Given the description of an element on the screen output the (x, y) to click on. 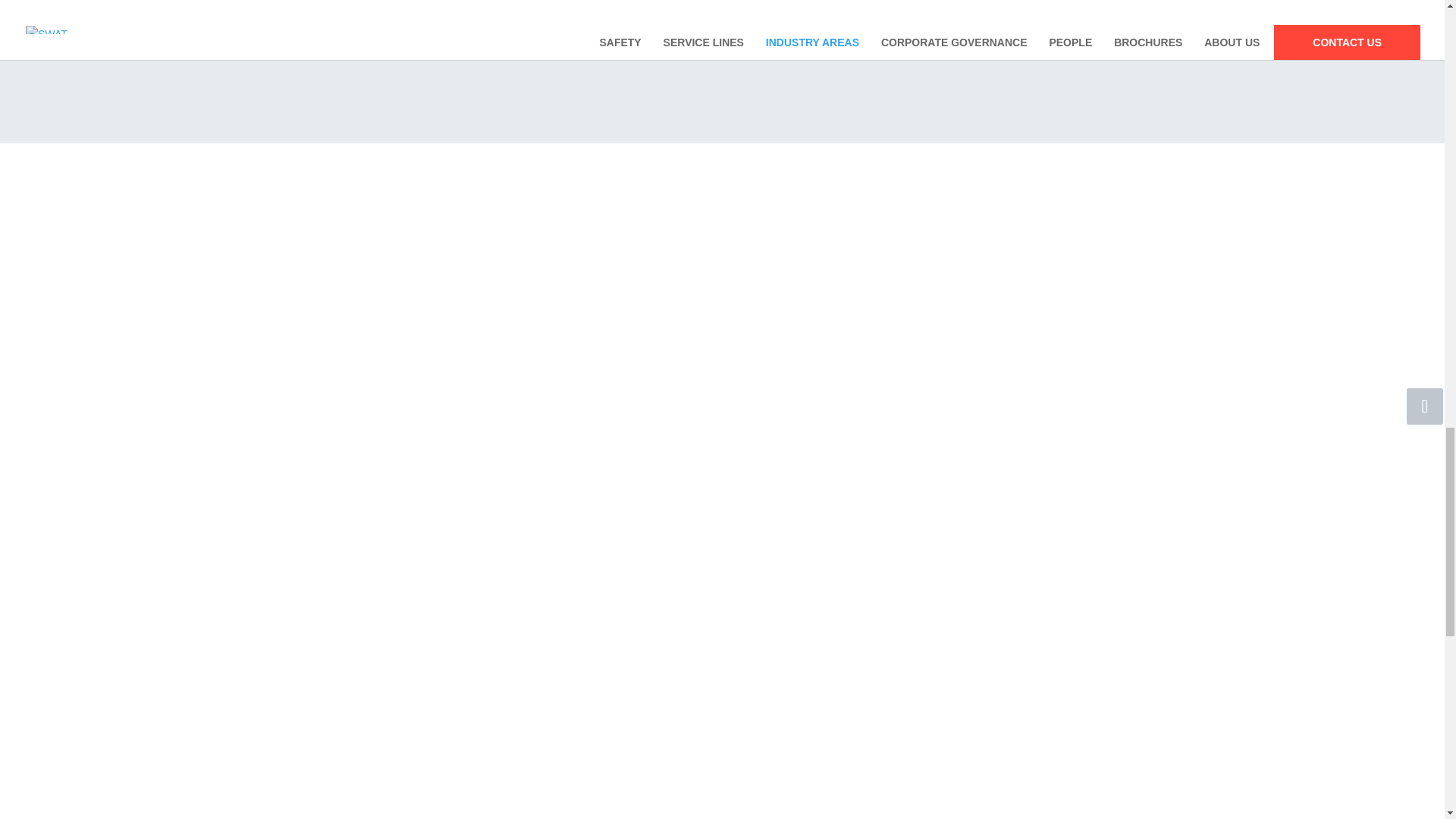
LP-IndustryAreas-Card-TalktoanExpert (944, 28)
LP-IndustryAreas-Card-OilRefinery (498, 28)
LP-IndustryAreas-Card-RenewablesBio (795, 28)
LP-IndustryAreas-Card-ChemicalPlant (647, 28)
